Given the description of an element on the screen output the (x, y) to click on. 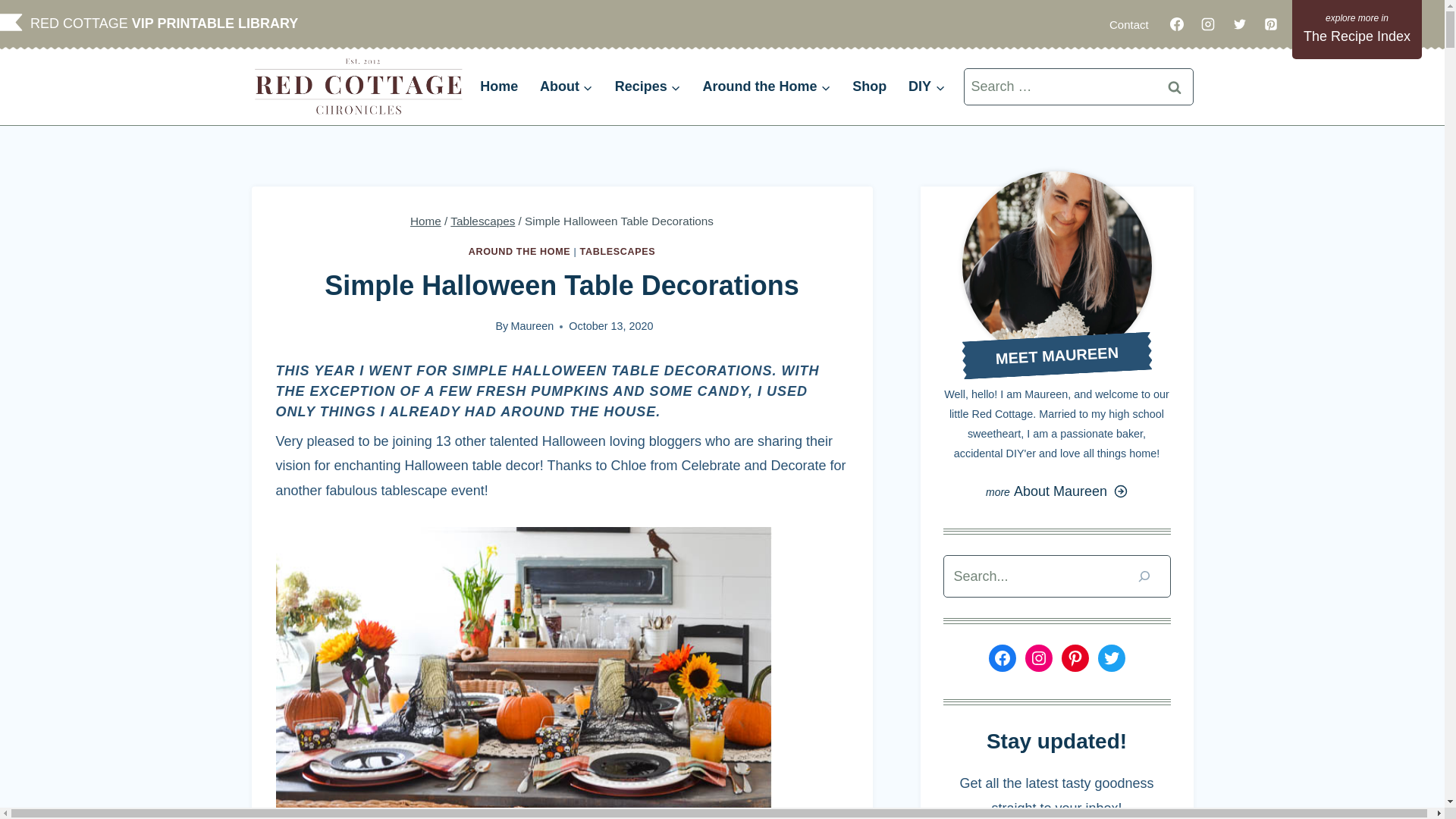
VIP PRINTABLE LIBRARY (215, 23)
About (566, 86)
Search (1174, 86)
The Recipe Index (1357, 29)
Around the Home (766, 86)
Recipes (647, 86)
Contact (1129, 24)
DIY (927, 86)
Home (498, 86)
Shop (869, 86)
Search (1174, 86)
